Given the description of an element on the screen output the (x, y) to click on. 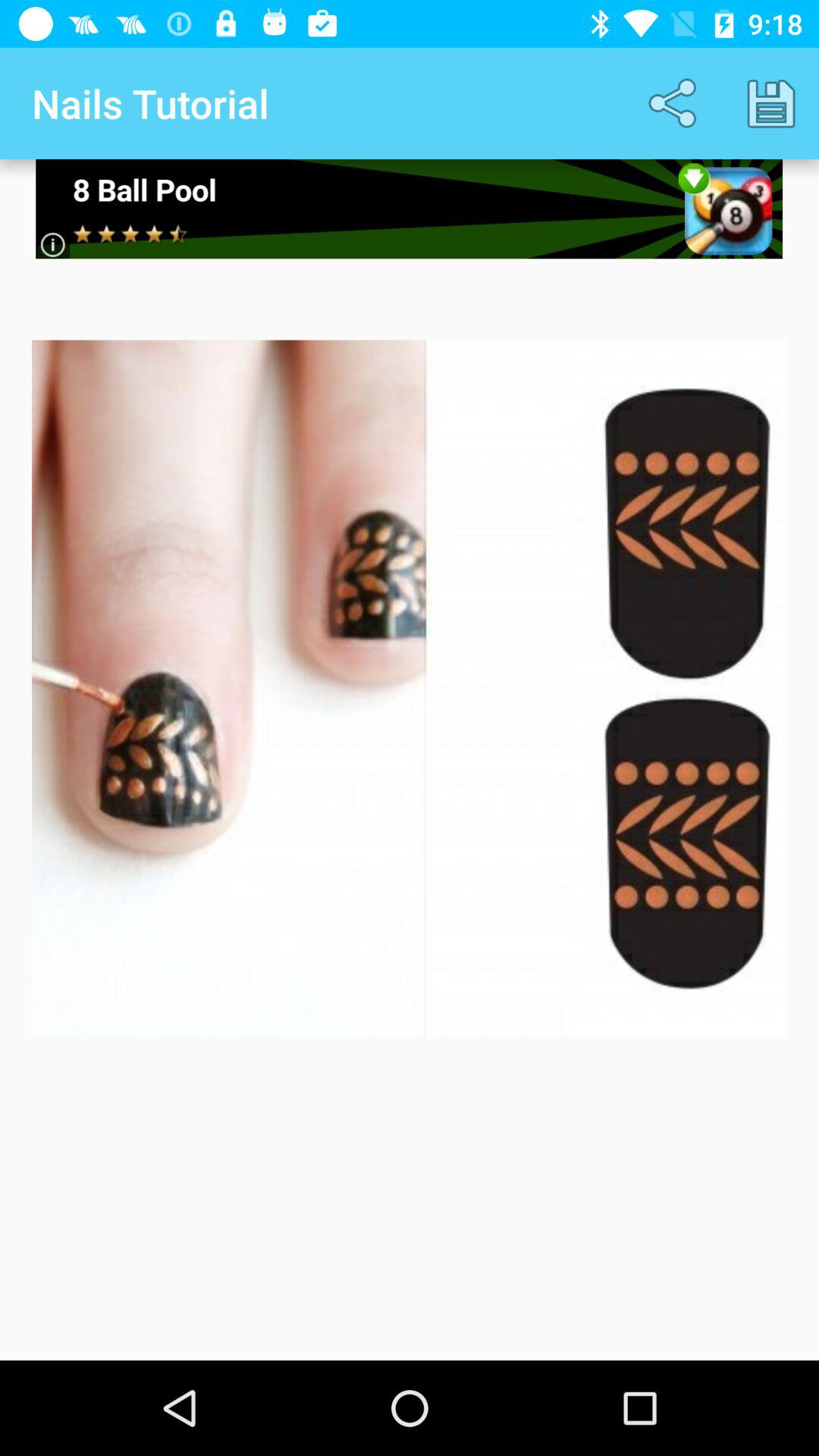
games search (408, 208)
